Given the description of an element on the screen output the (x, y) to click on. 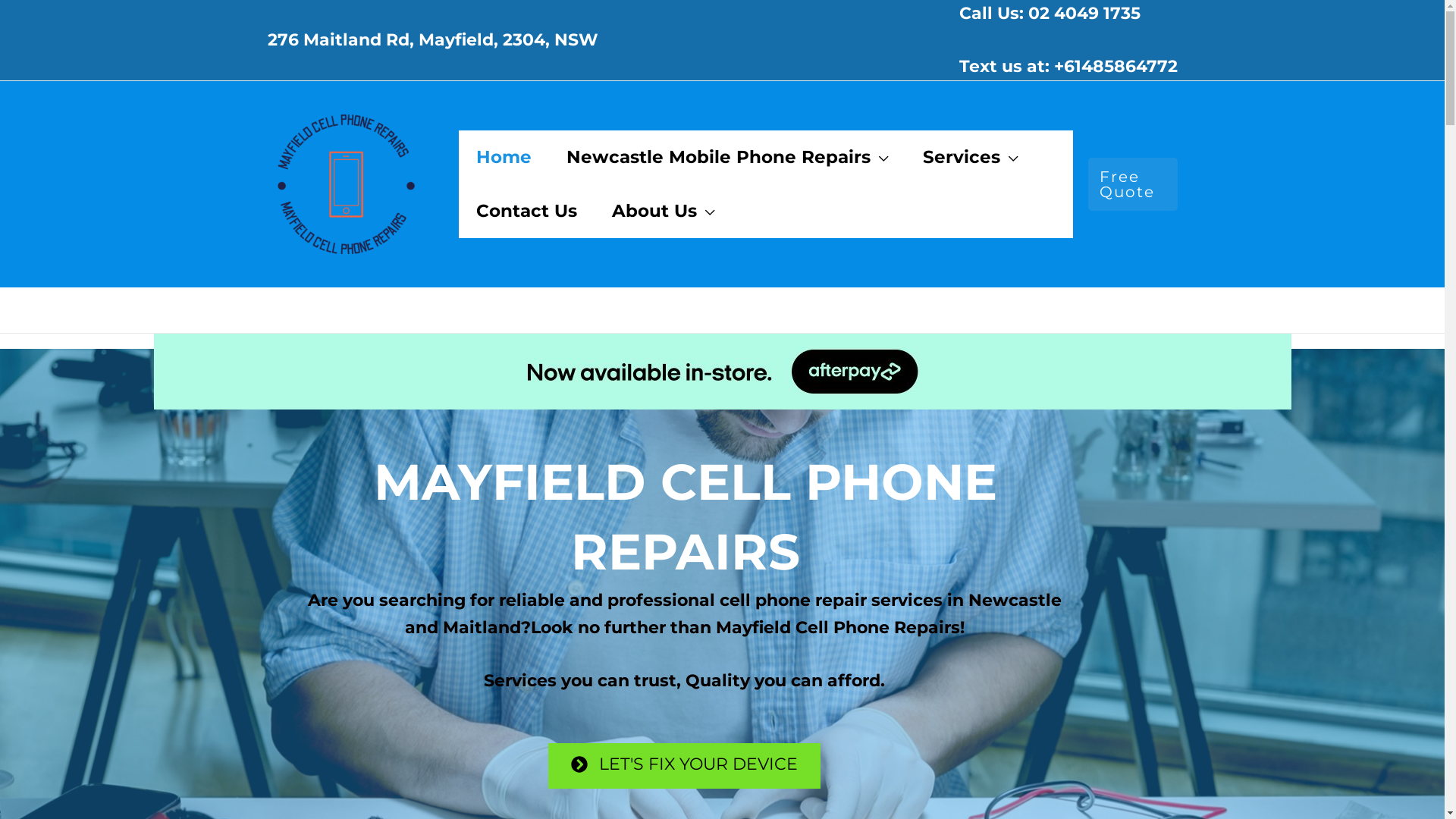
Services Element type: text (970, 156)
Home Element type: text (503, 156)
Text us at: Element type: text (1003, 66)
+61485864772 Element type: text (1115, 66)
Contact Us Element type: text (525, 210)
About Us Element type: text (662, 210)
Call Us: Element type: text (990, 13)
02 4049 1735 Element type: text (1084, 13)
Newcastle Mobile Phone Repairs Element type: text (727, 156)
LET'S FIX YOUR DEVICE Element type: text (684, 765)
Free Quote Element type: text (1132, 183)
